Given the description of an element on the screen output the (x, y) to click on. 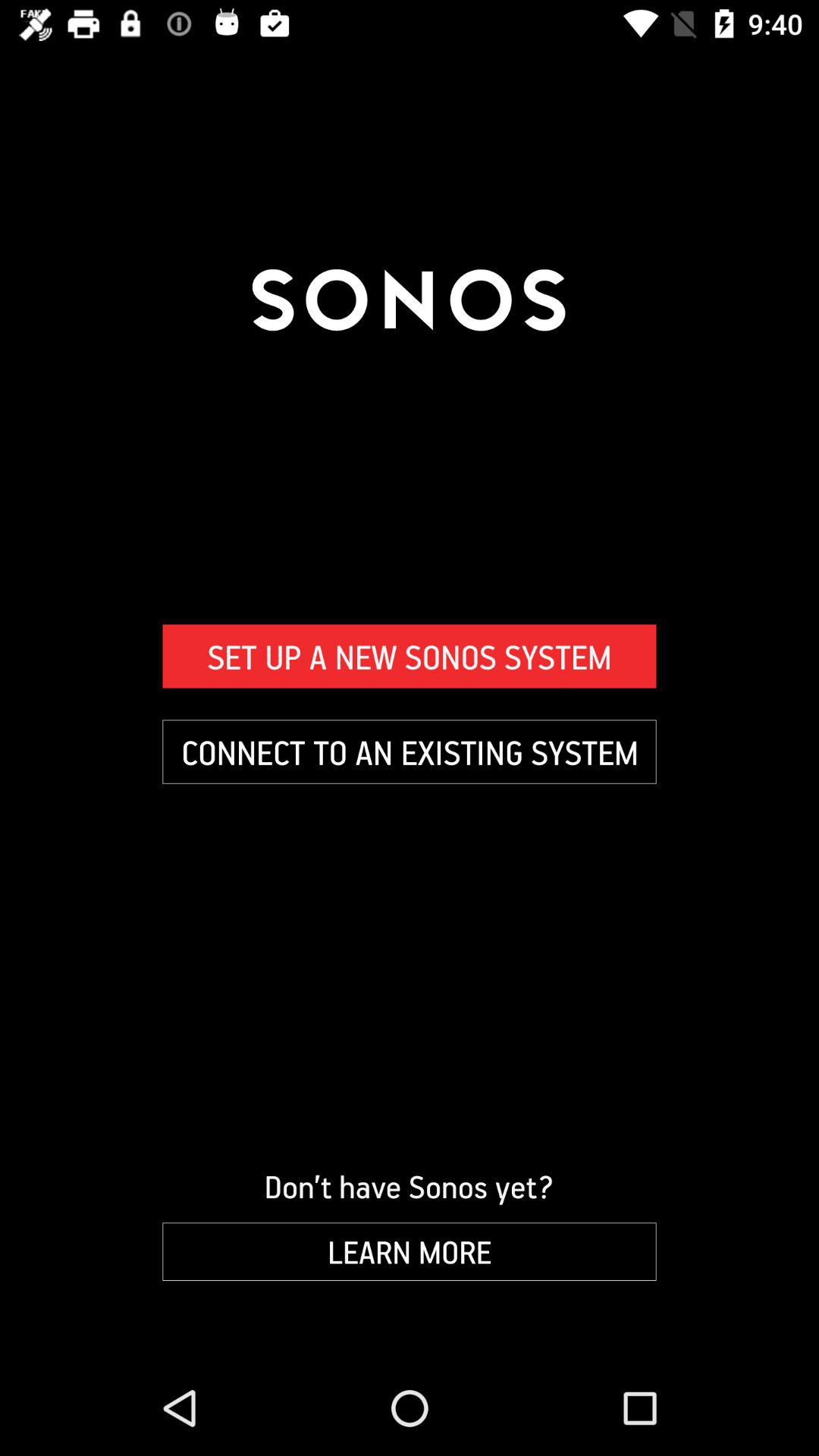
flip to learn more icon (409, 1251)
